Given the description of an element on the screen output the (x, y) to click on. 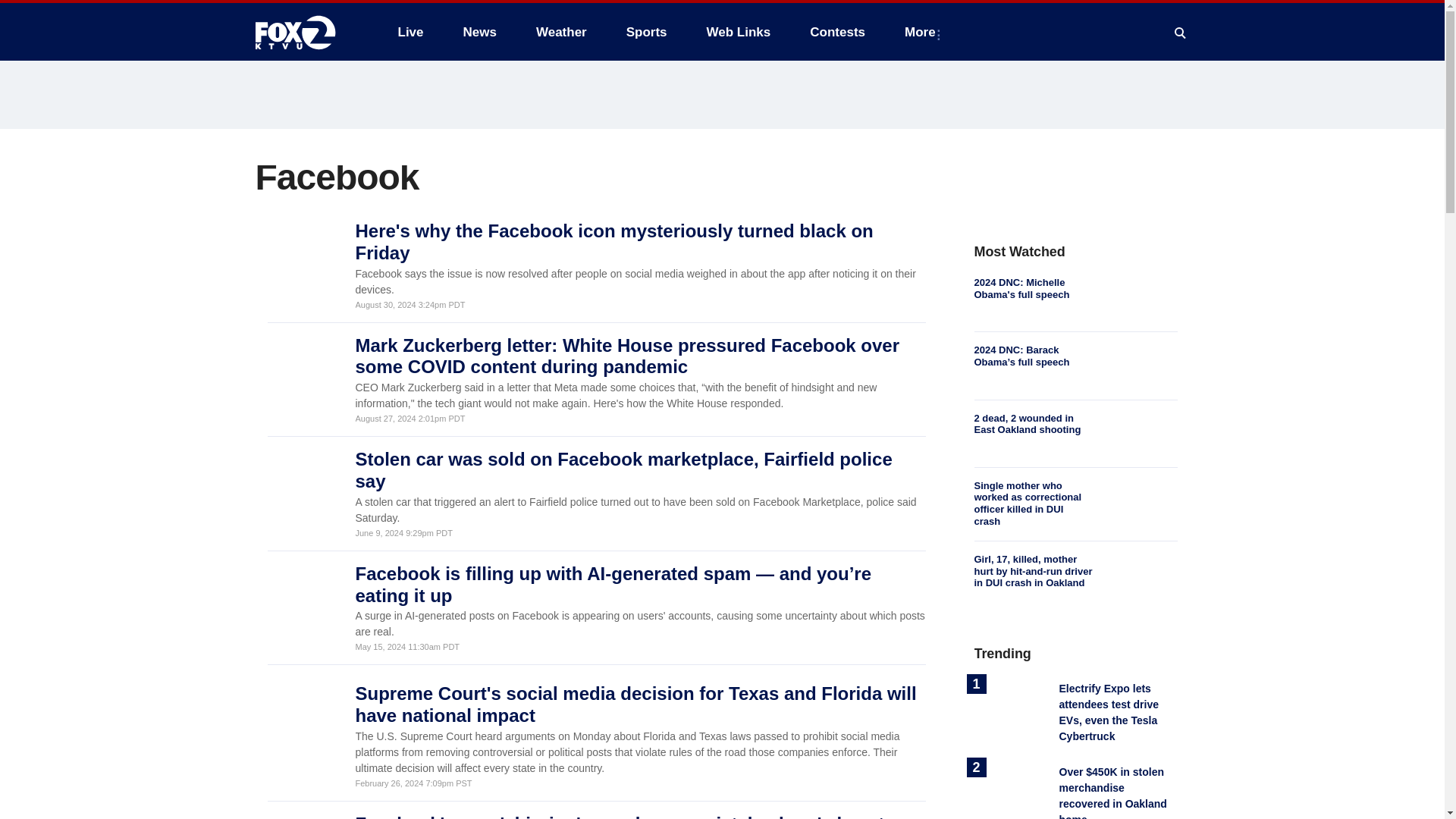
Contests (837, 32)
More (922, 32)
Sports (646, 32)
Weather (561, 32)
News (479, 32)
Live (410, 32)
Web Links (738, 32)
